Given the description of an element on the screen output the (x, y) to click on. 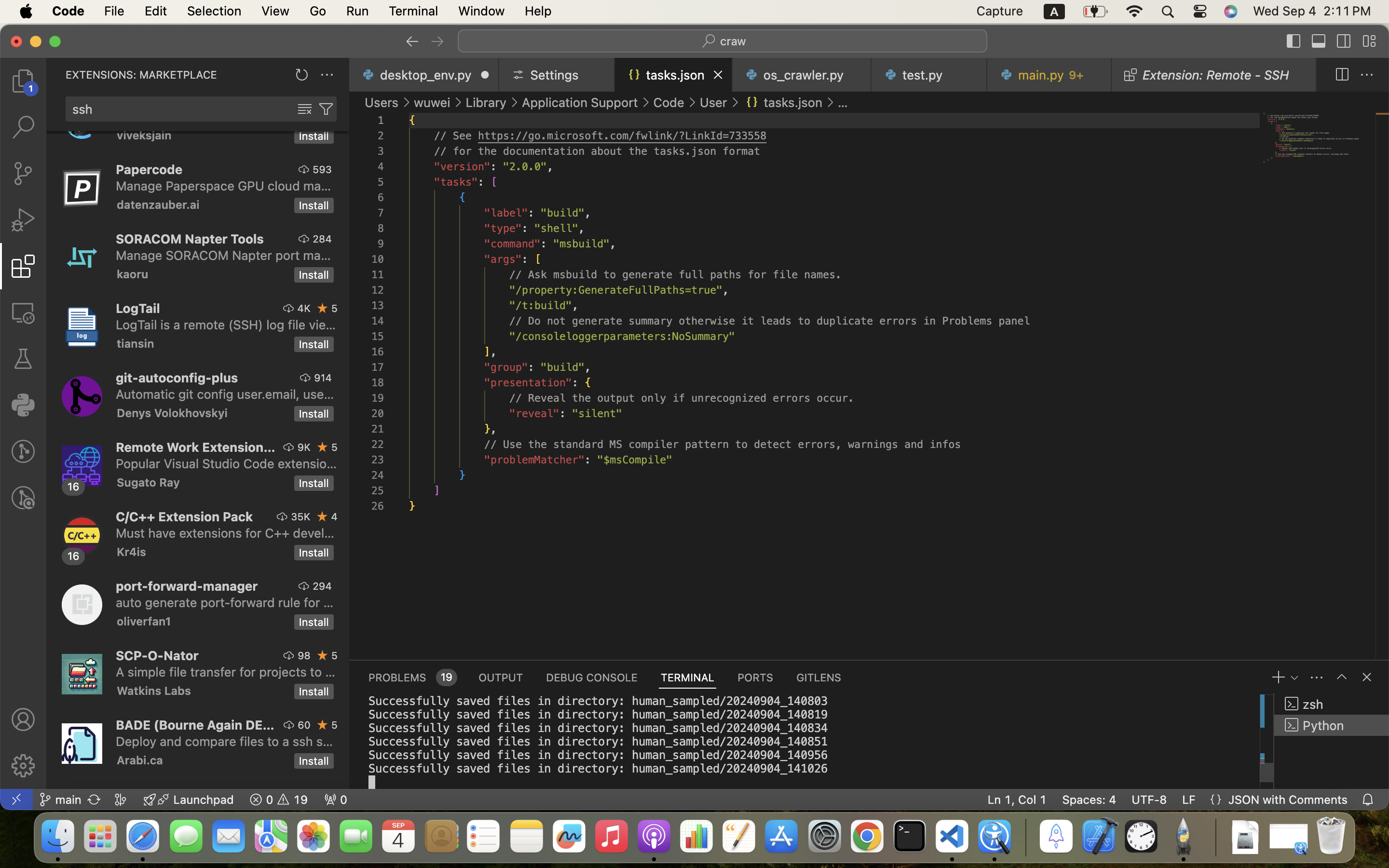
viveksjain Element type: AXStaticText (143, 136)
Deploy and compare files to a ssh server Element type: AXStaticText (224, 740)
 Element type: AXCheckBox (1344, 41)
Users Element type: AXGroup (381, 101)
Python  Element type: AXGroup (1331, 724)
